Given the description of an element on the screen output the (x, y) to click on. 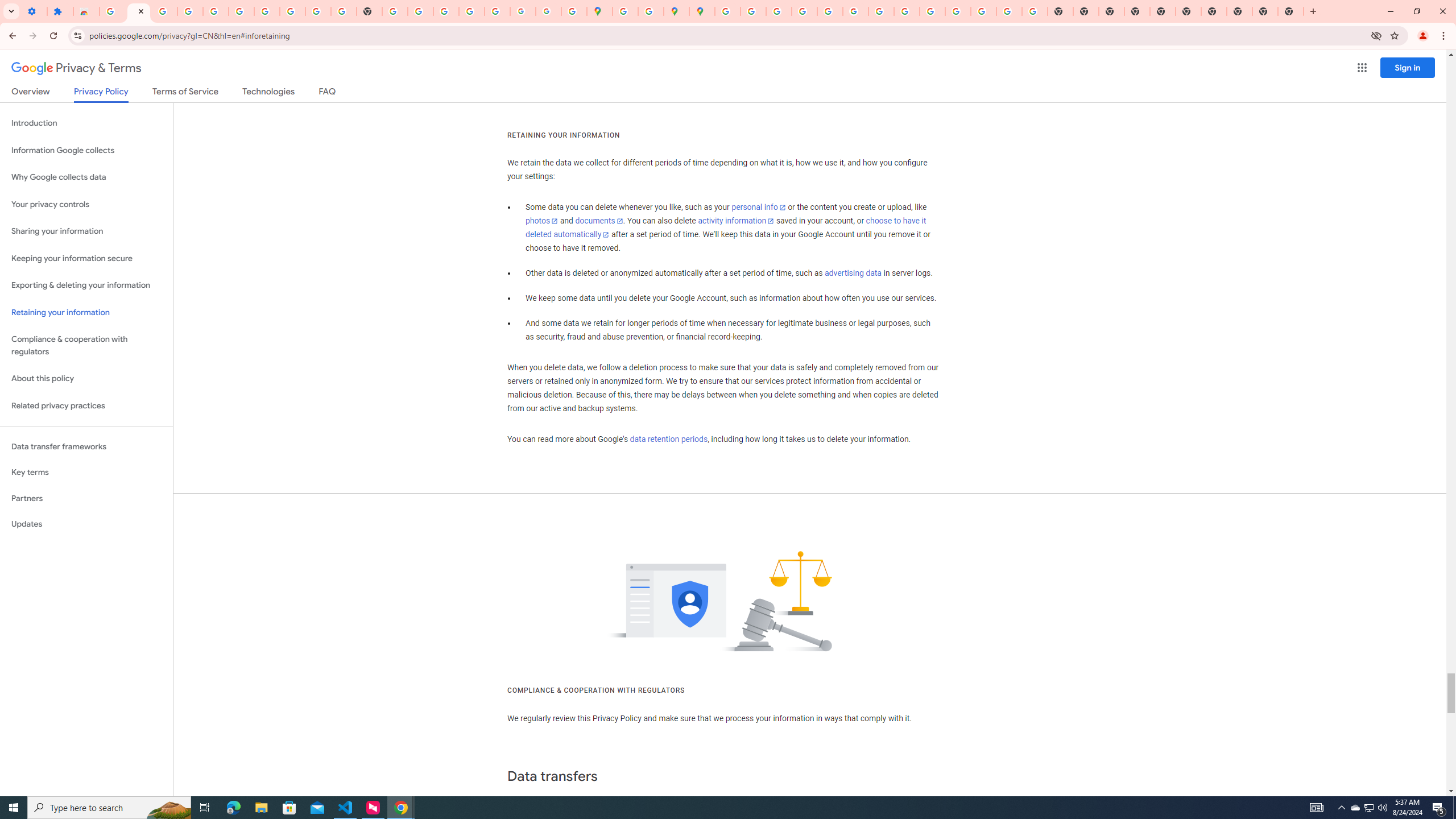
Learn how to find your photos - Google Photos Help (189, 11)
Your privacy controls (86, 204)
https://scholar.google.com/ (395, 11)
Why Google collects data (86, 176)
data retention periods (667, 439)
